Given the description of an element on the screen output the (x, y) to click on. 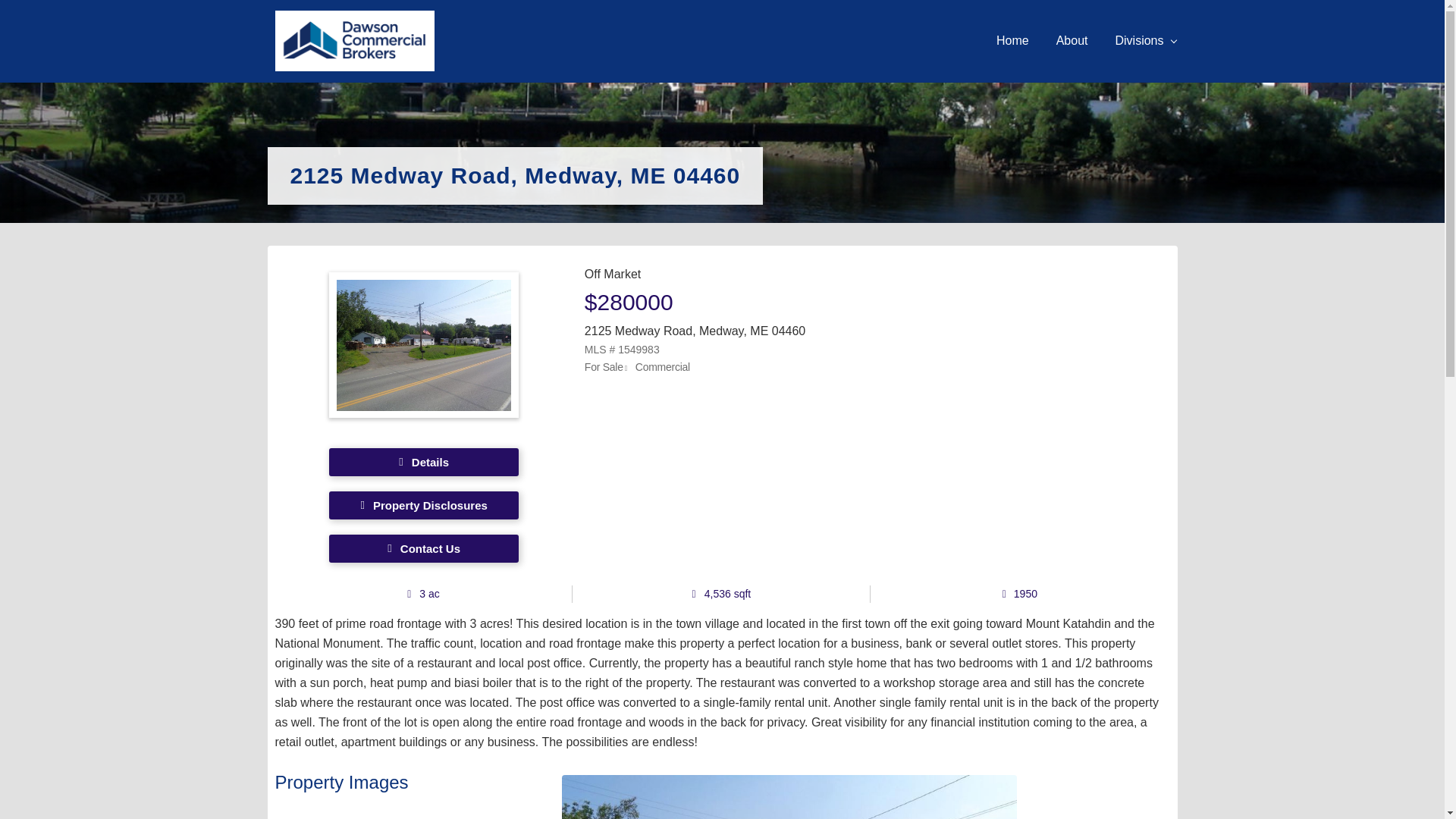
ERA Dawson Bradford (354, 40)
Home (1012, 40)
Details (423, 461)
Divisions (1145, 40)
Property Disclosures (423, 505)
About (1071, 40)
Contact Us (423, 548)
